Given the description of an element on the screen output the (x, y) to click on. 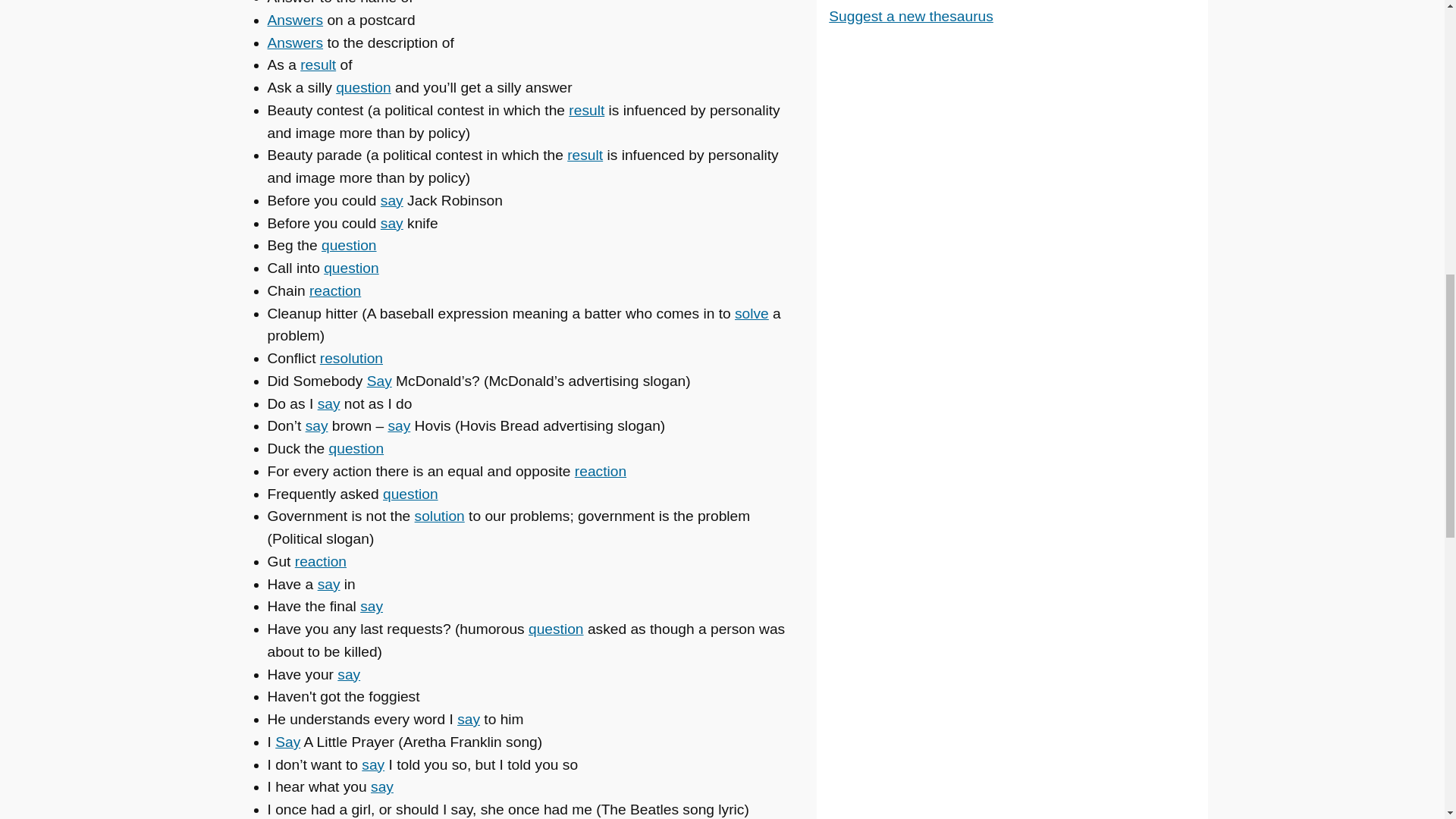
say (348, 674)
say (370, 606)
question (350, 268)
reaction (320, 561)
result (584, 154)
say (391, 222)
solution (439, 515)
say (317, 425)
say (328, 584)
question (555, 628)
